Given the description of an element on the screen output the (x, y) to click on. 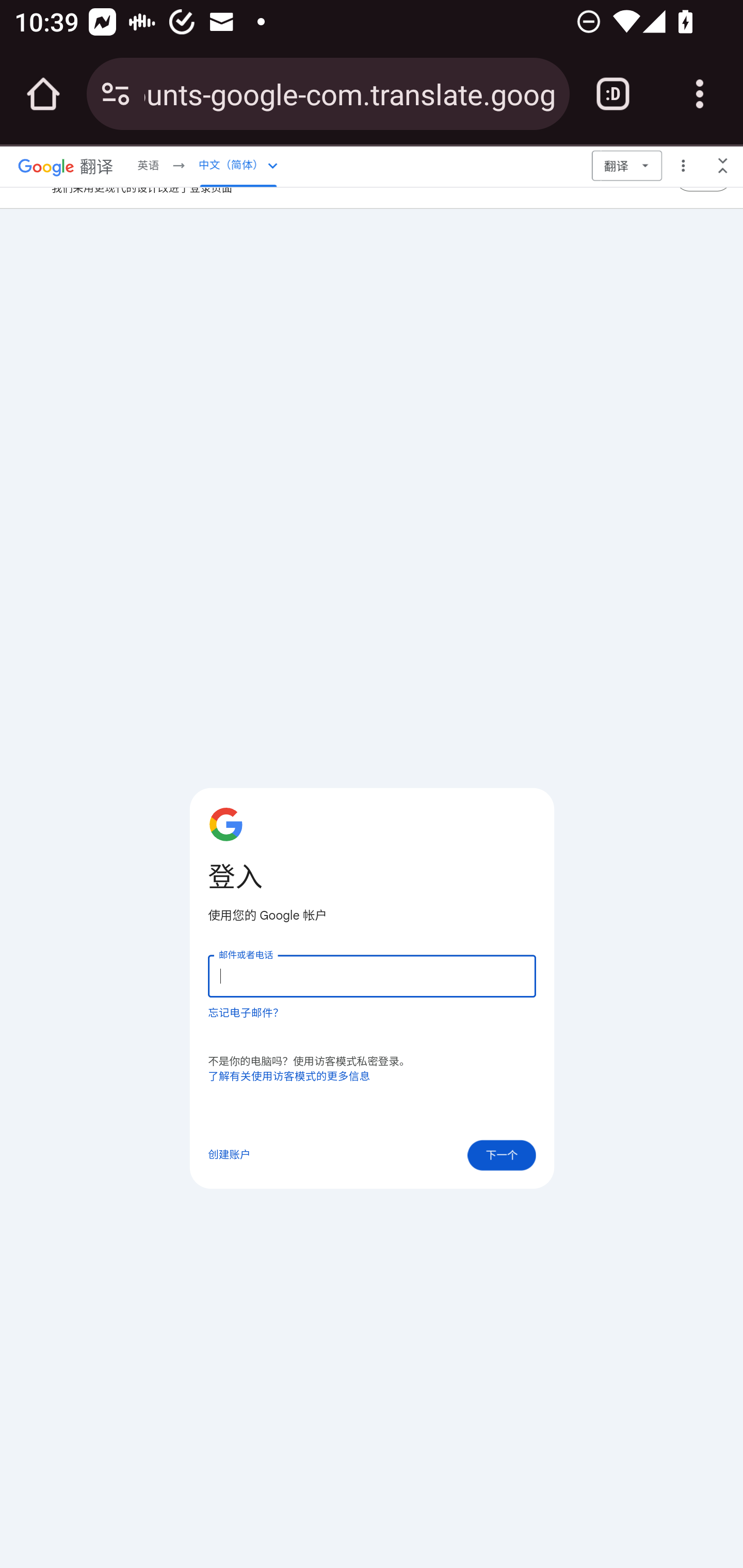
Open the home page (43, 93)
Connection is secure (115, 93)
Switch or close tabs (612, 93)
Customize and control Google Chrome (699, 93)
Google 翻译 Google 翻译 (65, 165)
英语 (147, 165)
中文（简体）  (237, 165)
更多菜单选项 (683, 165)
收起谷歌翻译导航栏 (722, 165)
忘记电子邮件？ (246, 1011)
了解有关使用访客模式的更多信息 (289, 1077)
创建账户 (229, 1155)
下一个 (501, 1155)
